Given the description of an element on the screen output the (x, y) to click on. 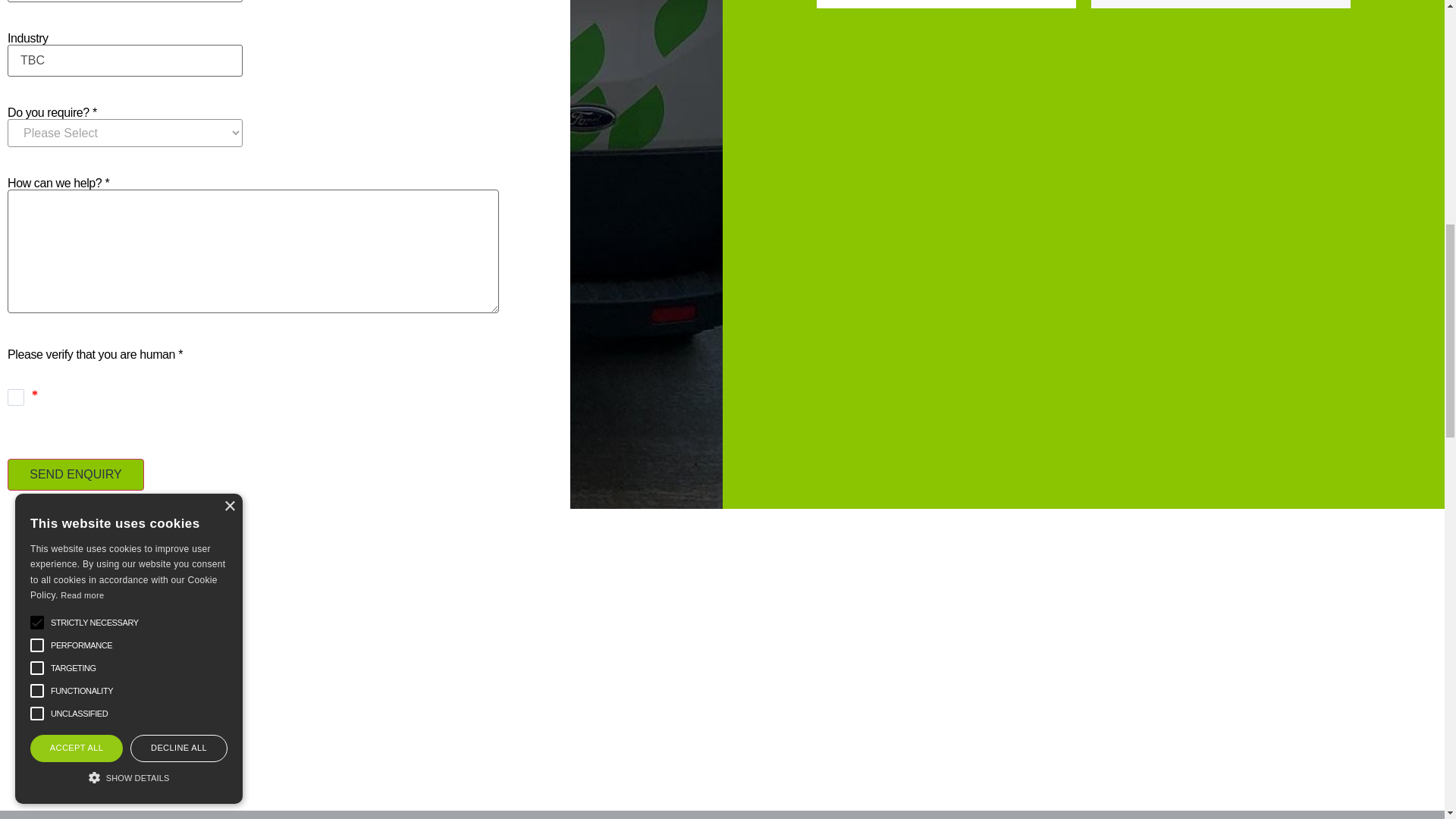
TBC (125, 60)
